Given the description of an element on the screen output the (x, y) to click on. 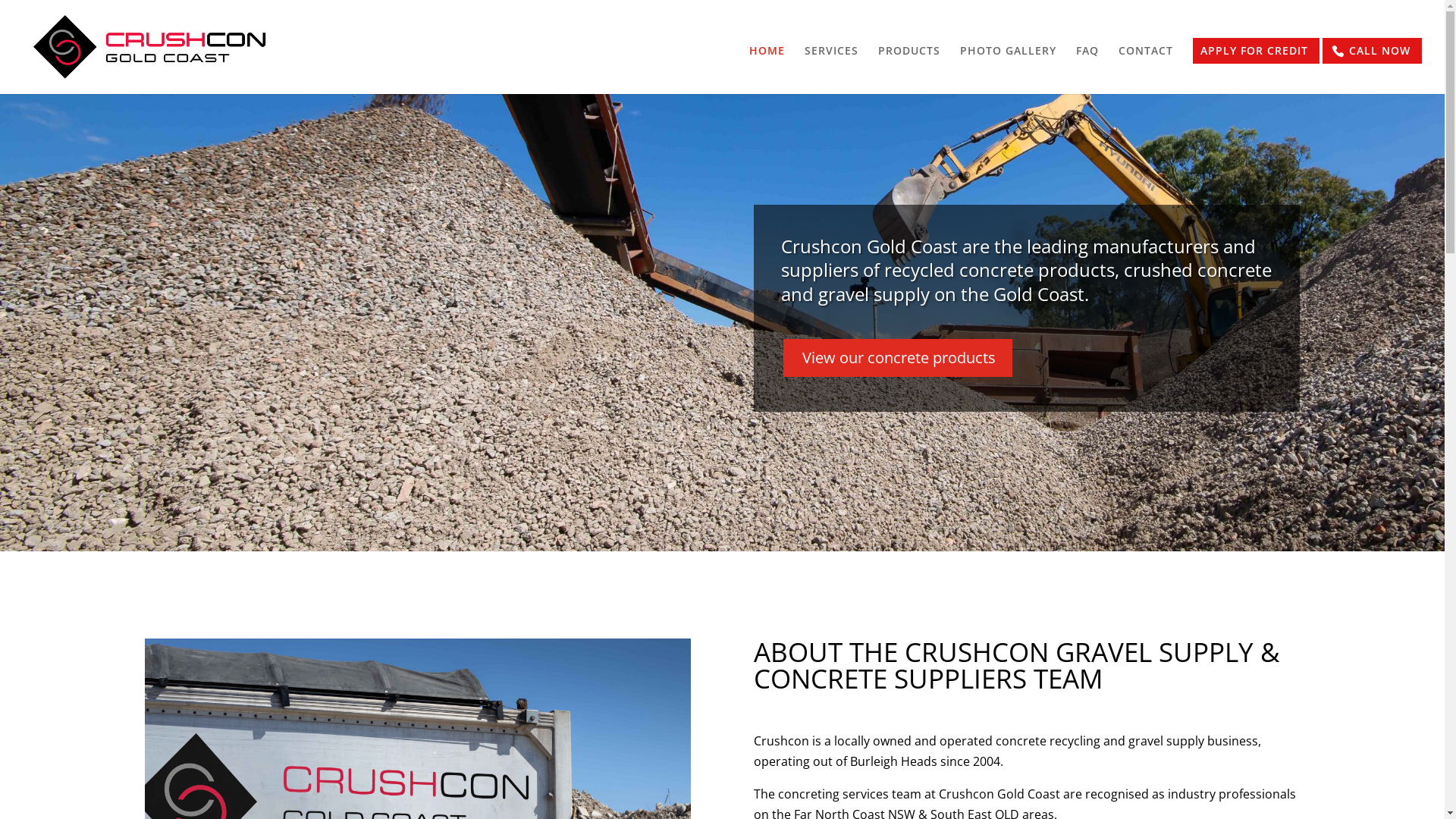
CONTACT Element type: text (1145, 69)
FAQ Element type: text (1087, 69)
PRODUCTS Element type: text (909, 69)
CALL NOW Element type: text (1371, 50)
SERVICES Element type: text (831, 69)
View our concrete products Element type: text (897, 357)
APPLY FOR CREDIT Element type: text (1255, 50)
PHOTO GALLERY Element type: text (1008, 69)
HOME Element type: text (766, 69)
